Given the description of an element on the screen output the (x, y) to click on. 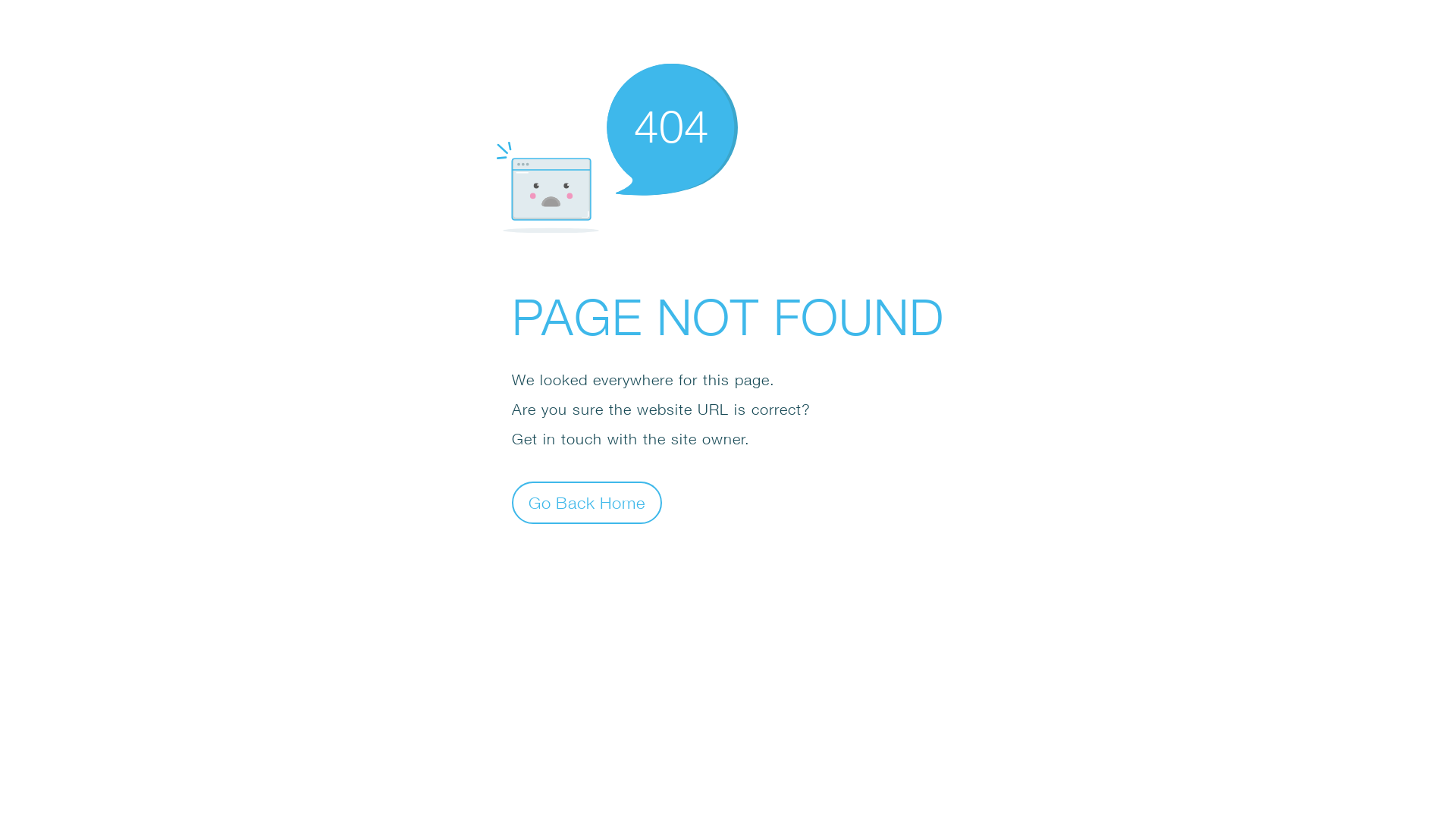
Go Back Home Element type: text (586, 502)
